Given the description of an element on the screen output the (x, y) to click on. 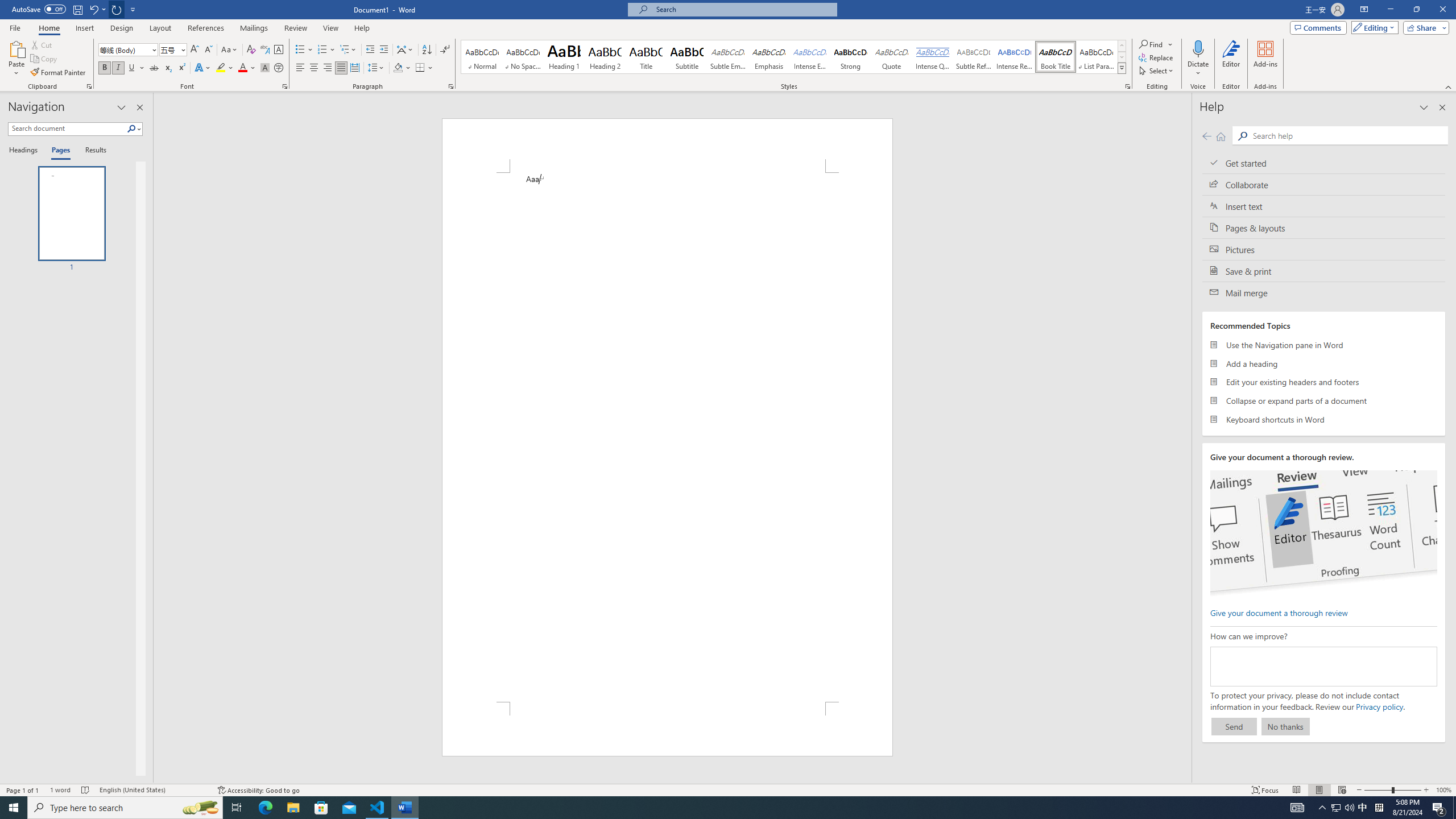
Mode (1372, 27)
Zoom Out (1377, 790)
Print Layout (1318, 790)
Get started (1323, 162)
Mailings (253, 28)
Zoom (1392, 790)
Font Color Red (241, 67)
Customize Quick Access Toolbar (133, 9)
Dictate (1197, 48)
Copy (45, 58)
Layout (160, 28)
Results (91, 150)
Paste (16, 48)
Show/Hide Editing Marks (444, 49)
